Given the description of an element on the screen output the (x, y) to click on. 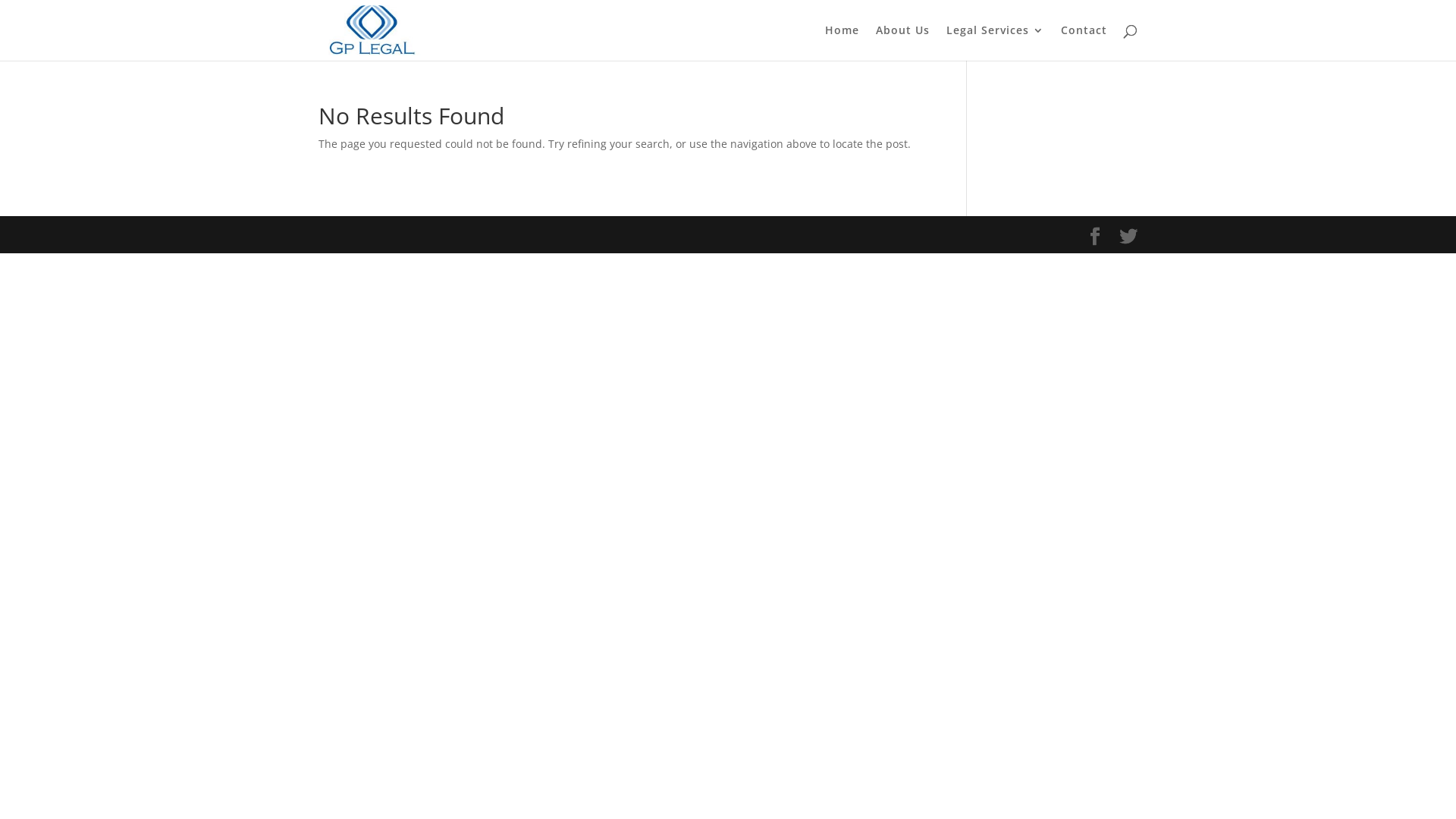
Home Element type: text (842, 42)
Legal Services Element type: text (995, 42)
About Us Element type: text (902, 42)
Contact Element type: text (1083, 42)
